Given the description of an element on the screen output the (x, y) to click on. 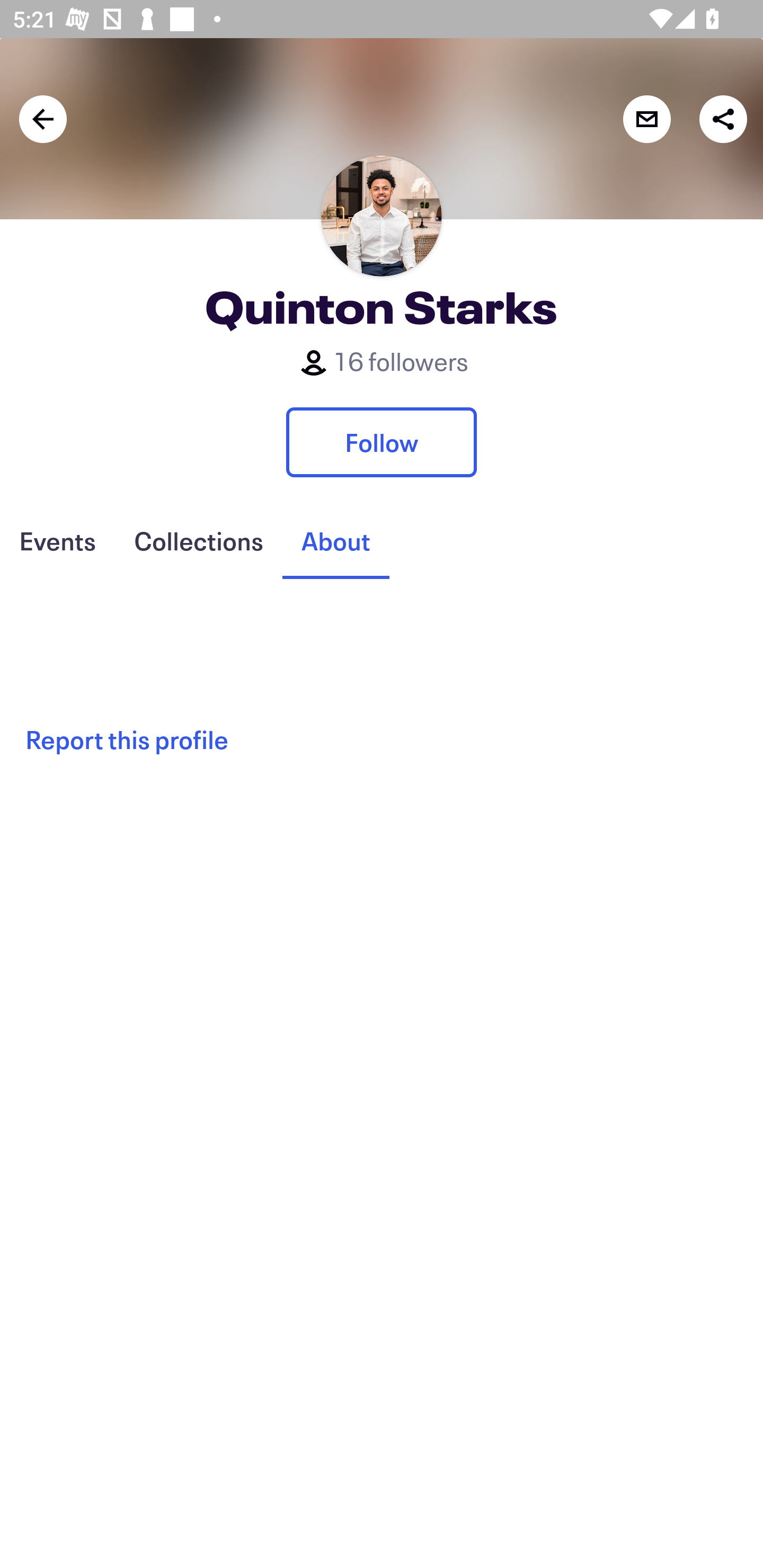
Back navigation arrow (43, 118)
Contact organizer (646, 118)
Share with friends (722, 118)
Follow (381, 441)
Events (57, 540)
Collections (198, 540)
Report this profile (381, 738)
